Given the description of an element on the screen output the (x, y) to click on. 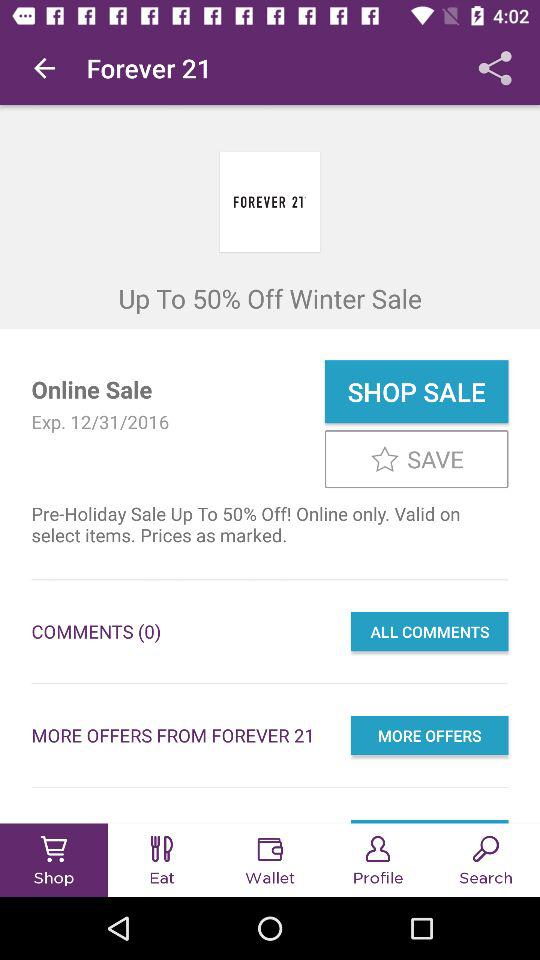
click on the search button (486, 859)
